Given the description of an element on the screen output the (x, y) to click on. 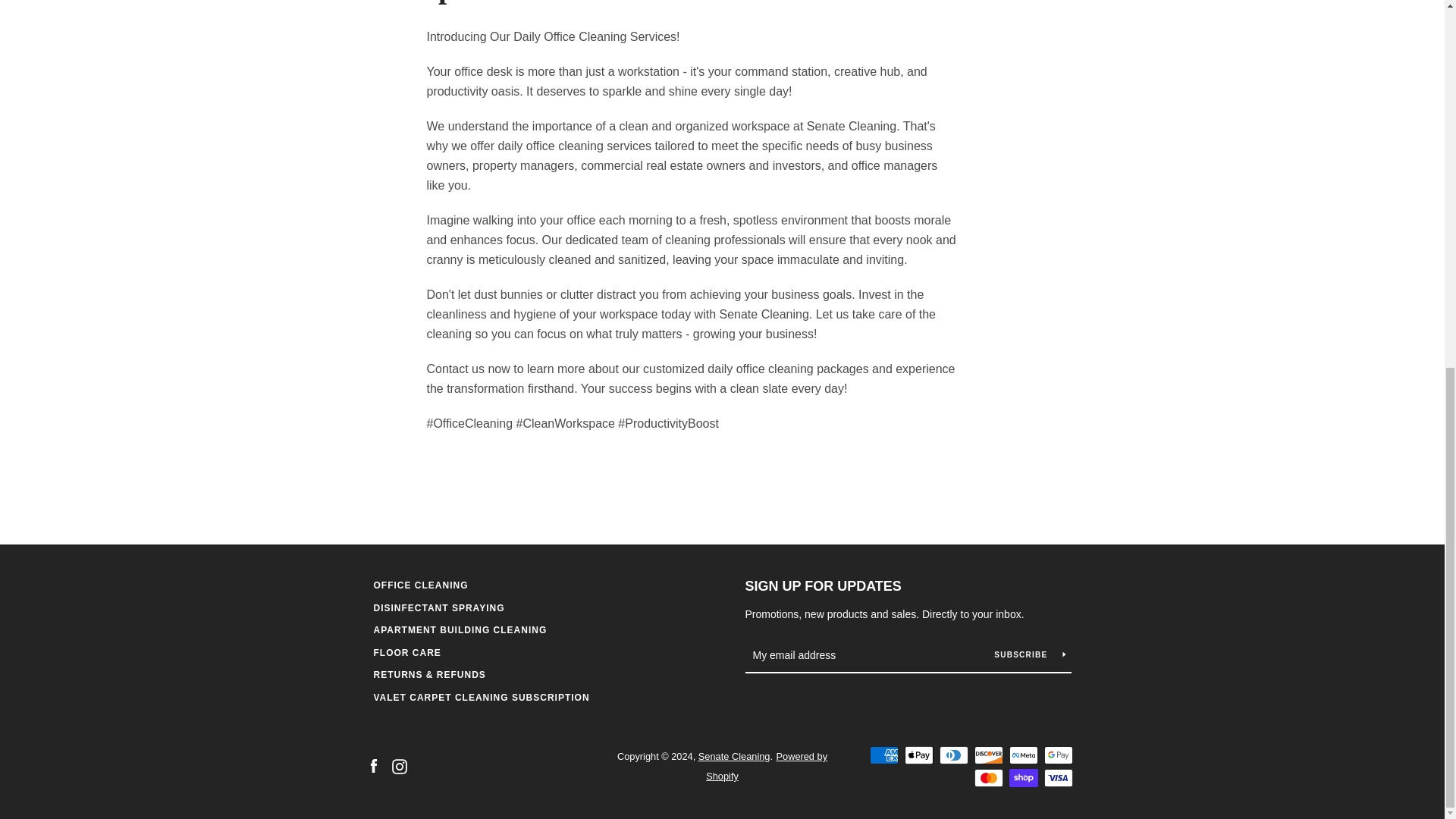
SUBSCRIBE (1029, 653)
Visa (1057, 778)
Facebook (372, 765)
VALET CARPET CLEANING SUBSCRIPTION (480, 696)
American Express (883, 755)
Shop Pay (1022, 778)
Discover (988, 755)
OFFICE CLEANING (419, 584)
Mastercard (988, 778)
Apple Pay (918, 755)
